Given the description of an element on the screen output the (x, y) to click on. 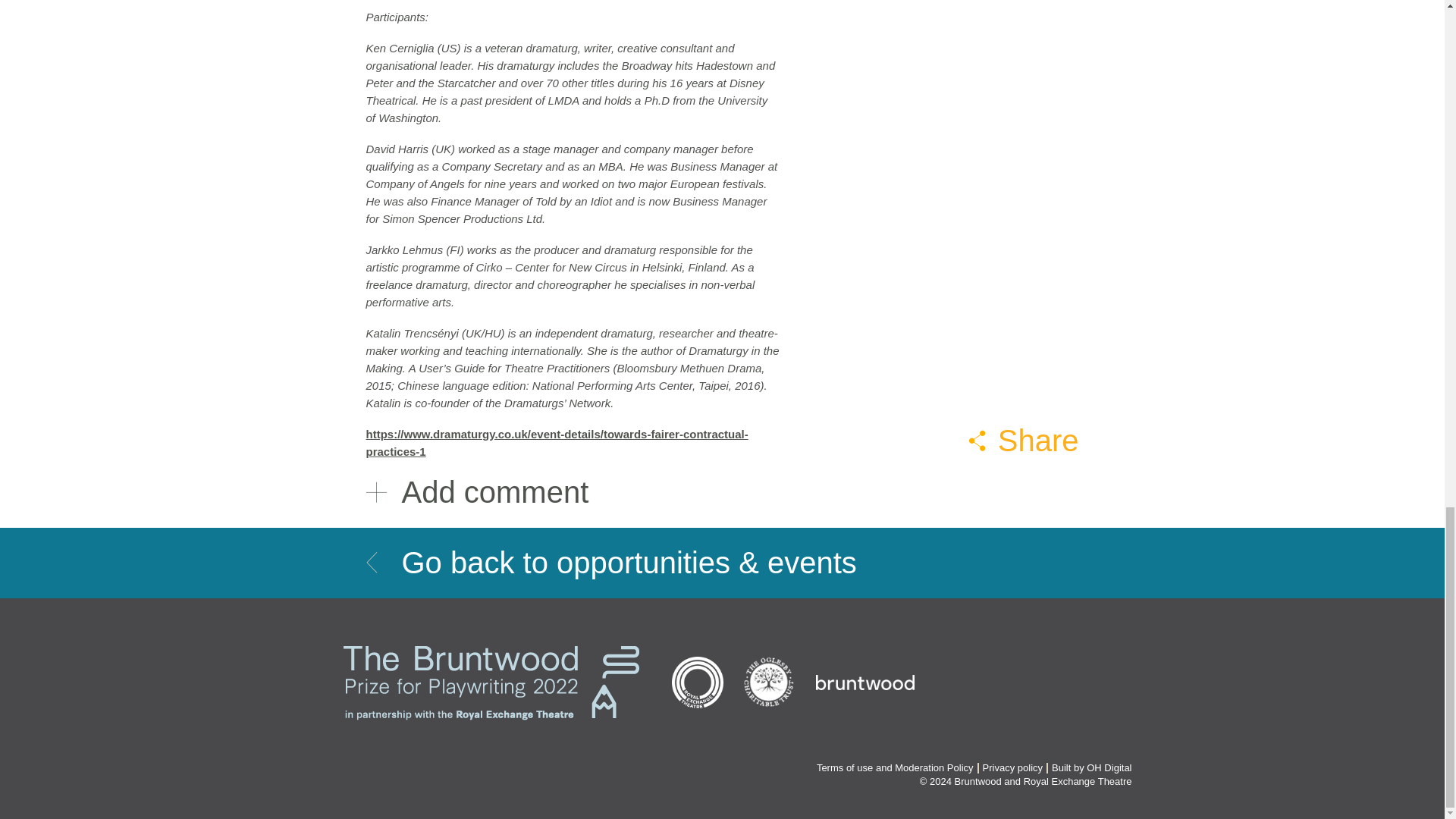
Terms of use and Moderation Policy (895, 767)
Built by OH Digital (1091, 767)
Add comment (721, 492)
Privacy policy (1012, 767)
Share (1023, 440)
